Given the description of an element on the screen output the (x, y) to click on. 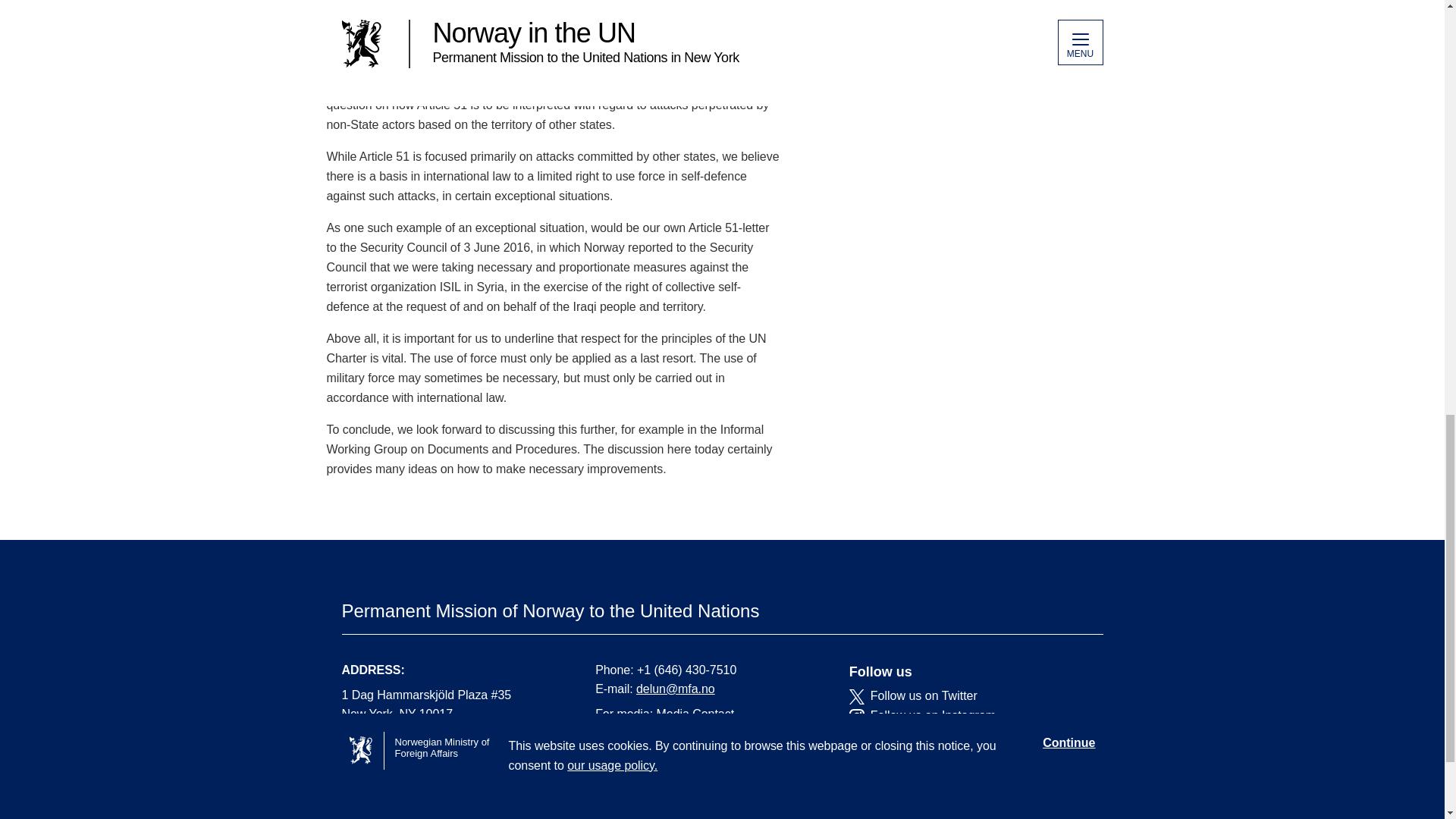
Media Contact (695, 713)
Follow us on Twitter (964, 695)
Follow us on Instagram (964, 715)
Media Contact (695, 713)
